Given the description of an element on the screen output the (x, y) to click on. 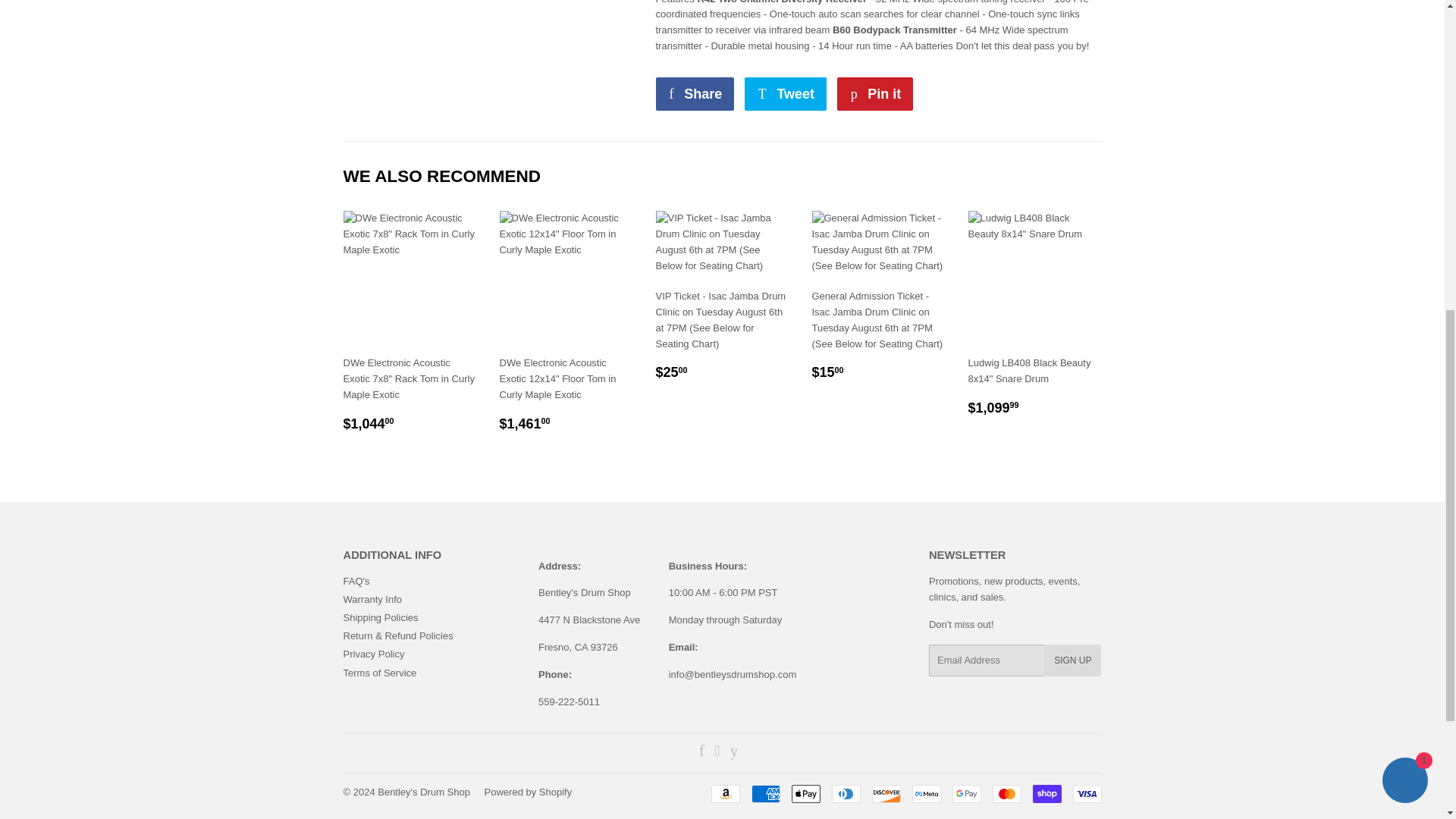
Apple Pay (806, 793)
Share on Facebook (694, 93)
Diners Club (845, 793)
Visa (1085, 793)
Tweet on Twitter (785, 93)
Shop Pay (1046, 793)
Amazon (725, 793)
Meta Pay (925, 793)
Google Pay (966, 793)
American Express (764, 793)
tel:5592225011 (568, 701)
Shopify online store chat (1404, 185)
Pin on Pinterest (875, 93)
Mastercard (1005, 793)
Discover (886, 793)
